Given the description of an element on the screen output the (x, y) to click on. 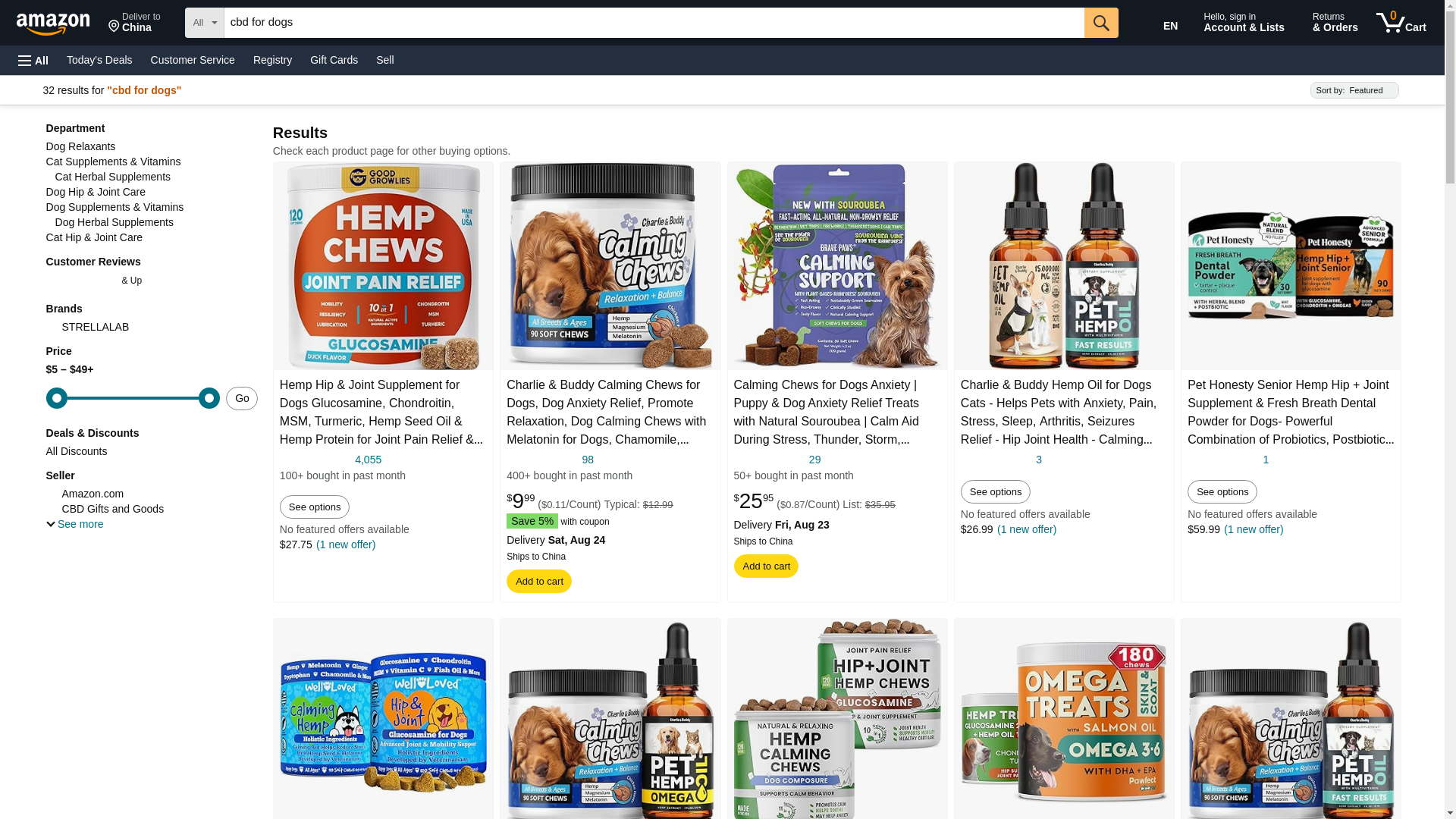
4,055 (1401, 22)
Customer Service (368, 460)
0 (192, 59)
EN (133, 397)
Go (1163, 22)
98 (1101, 22)
cbd for dogs (588, 460)
All (654, 22)
Registry (33, 60)
